Given the description of an element on the screen output the (x, y) to click on. 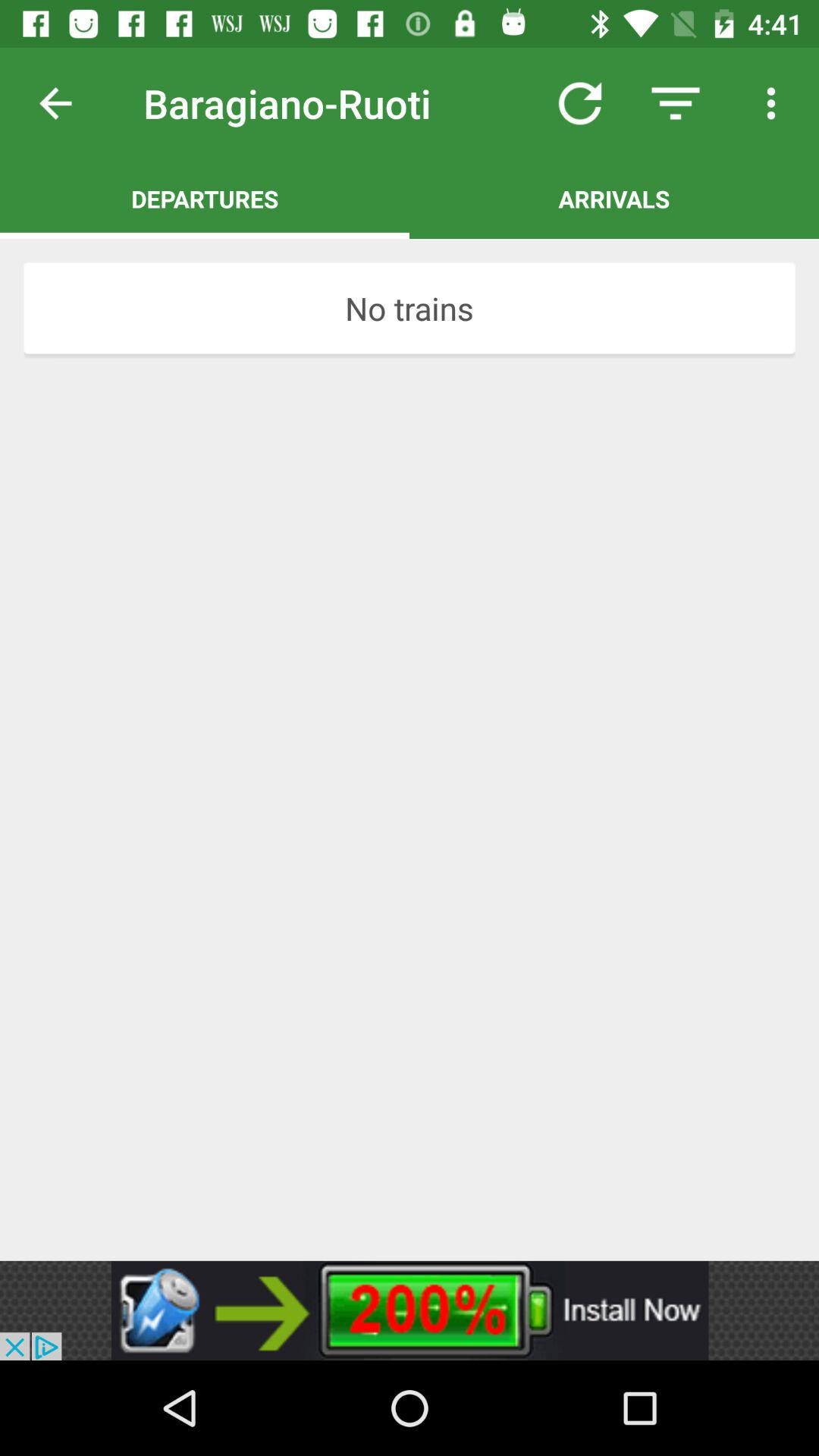
advertisement (409, 1310)
